Given the description of an element on the screen output the (x, y) to click on. 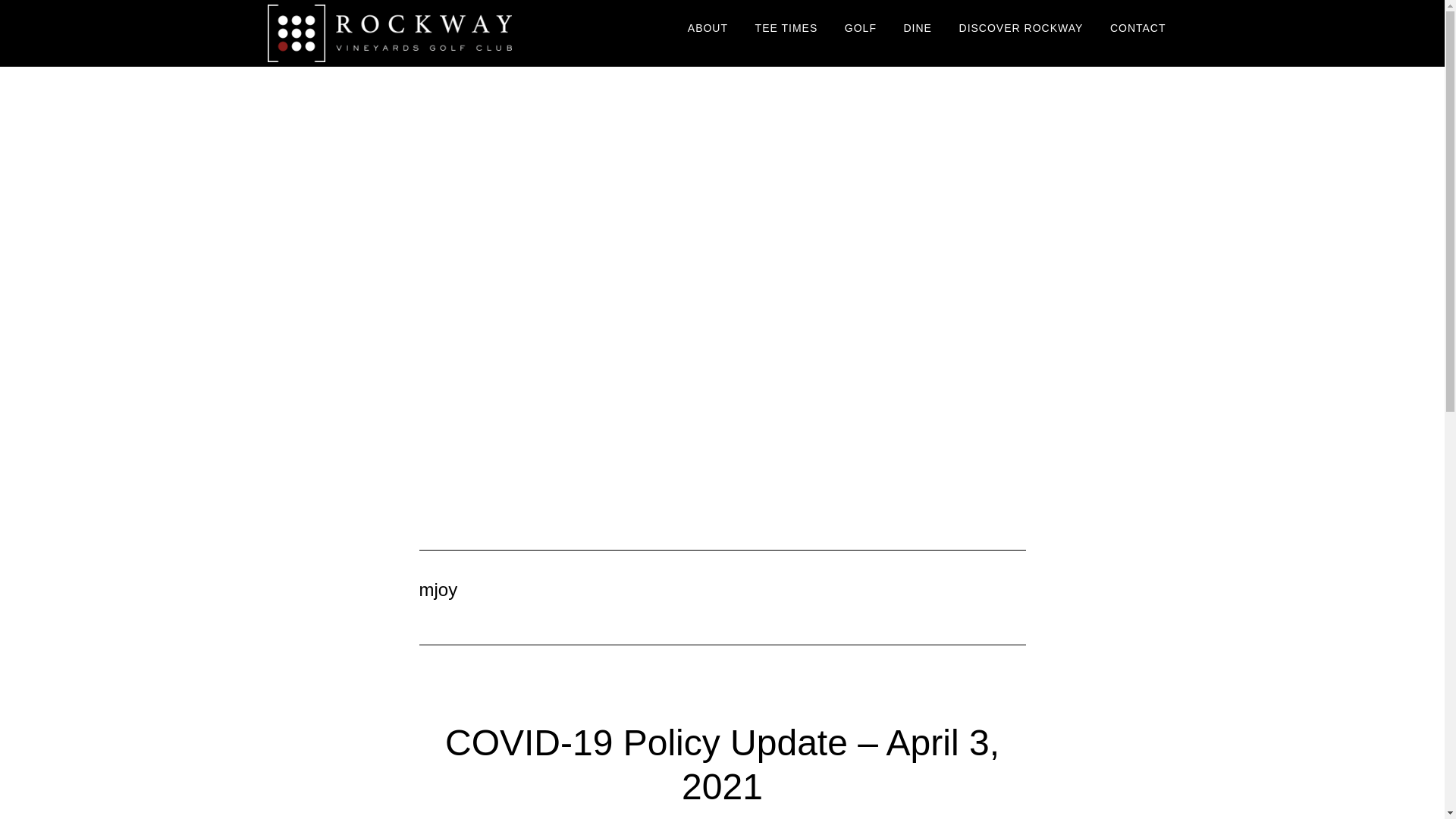
CONTACT (1138, 28)
ABOUT (708, 28)
ROCKWAY VINEYARDS (403, 33)
TEE TIMES (786, 28)
GOLF (860, 28)
DISCOVER ROCKWAY (1020, 28)
